Given the description of an element on the screen output the (x, y) to click on. 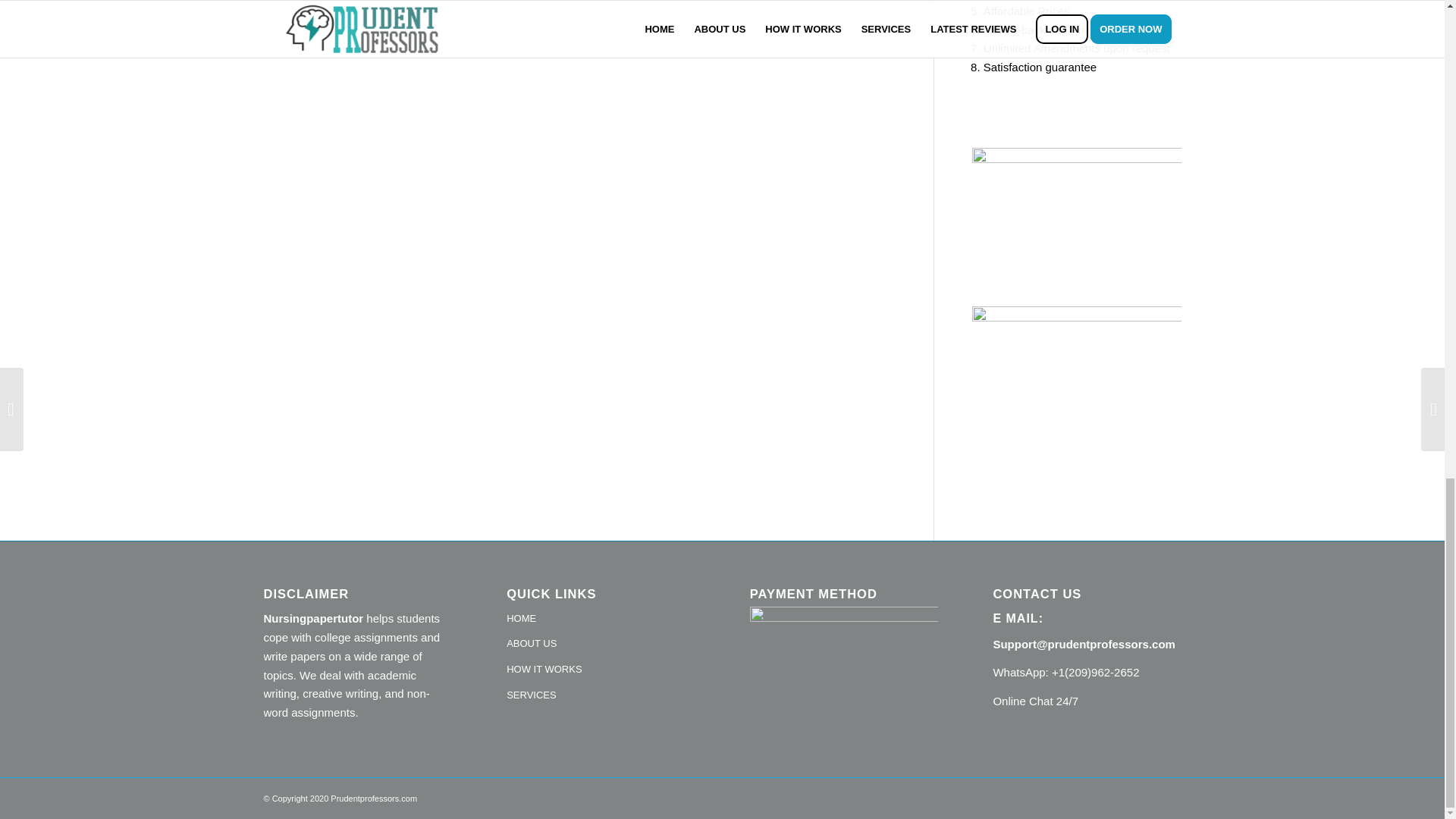
HOW IT WORKS (600, 670)
ABOUT US (600, 644)
SERVICES (600, 696)
HOME (600, 619)
